Given the description of an element on the screen output the (x, y) to click on. 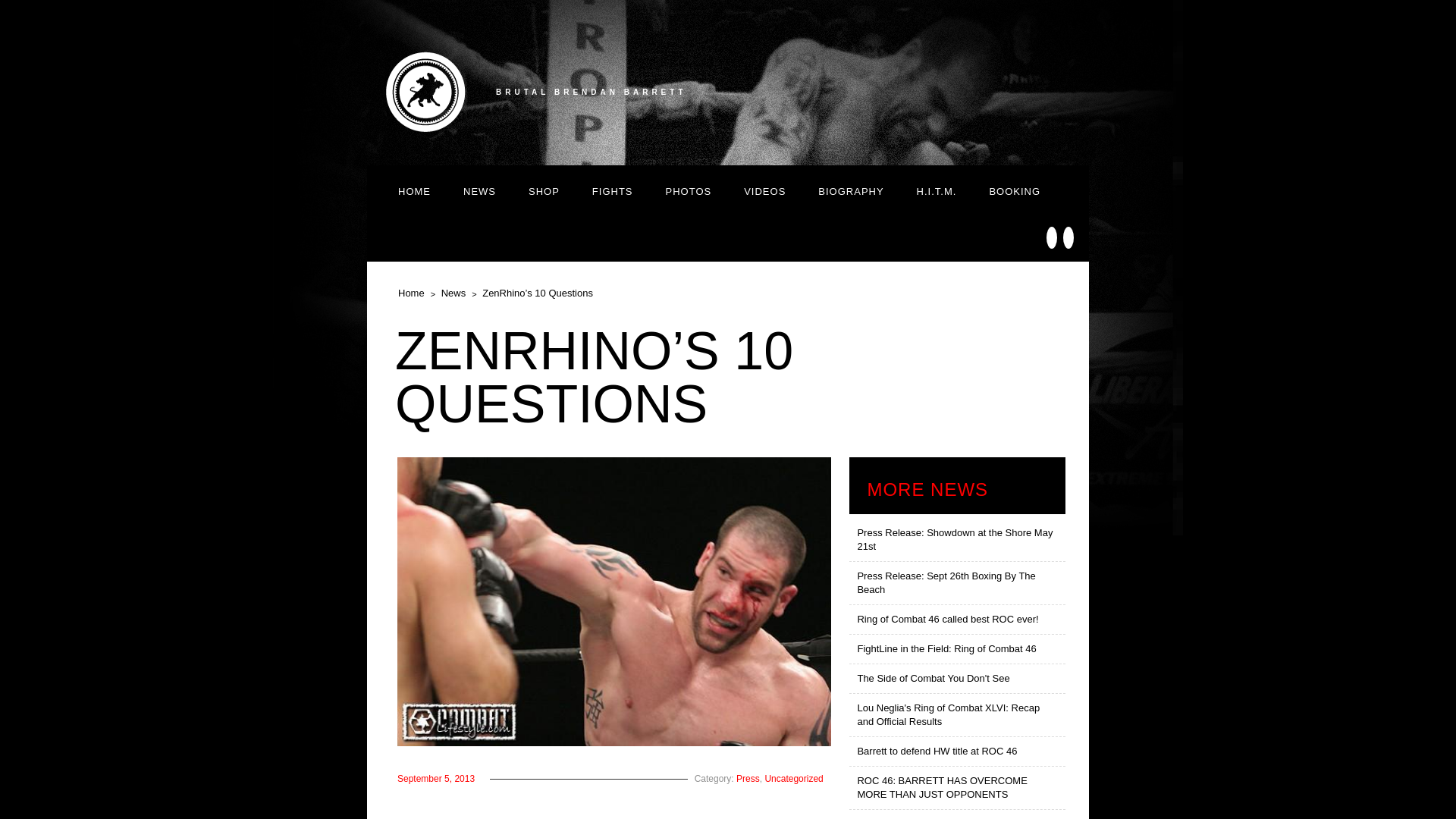
The Side of Combat You Don't See (956, 678)
BIOGRAPHY (850, 189)
ROC 46: BARRETT HAS OVERCOME MORE THAN JUST OPPONENTS (956, 787)
Lou Neglia's Ring of Combat XLVI: Recap and Official Results (956, 715)
Barrett is Heavyweight King! (956, 814)
Press (748, 778)
Uncategorized (793, 778)
HOME (413, 189)
Ring of Combat 46 called best ROC ever! (956, 619)
FIGHTS (612, 189)
Home (411, 292)
News (453, 292)
PHOTOS (689, 189)
NEWS (479, 189)
Press Release: Sept 26th Boxing By The Beach (956, 583)
